Given the description of an element on the screen output the (x, y) to click on. 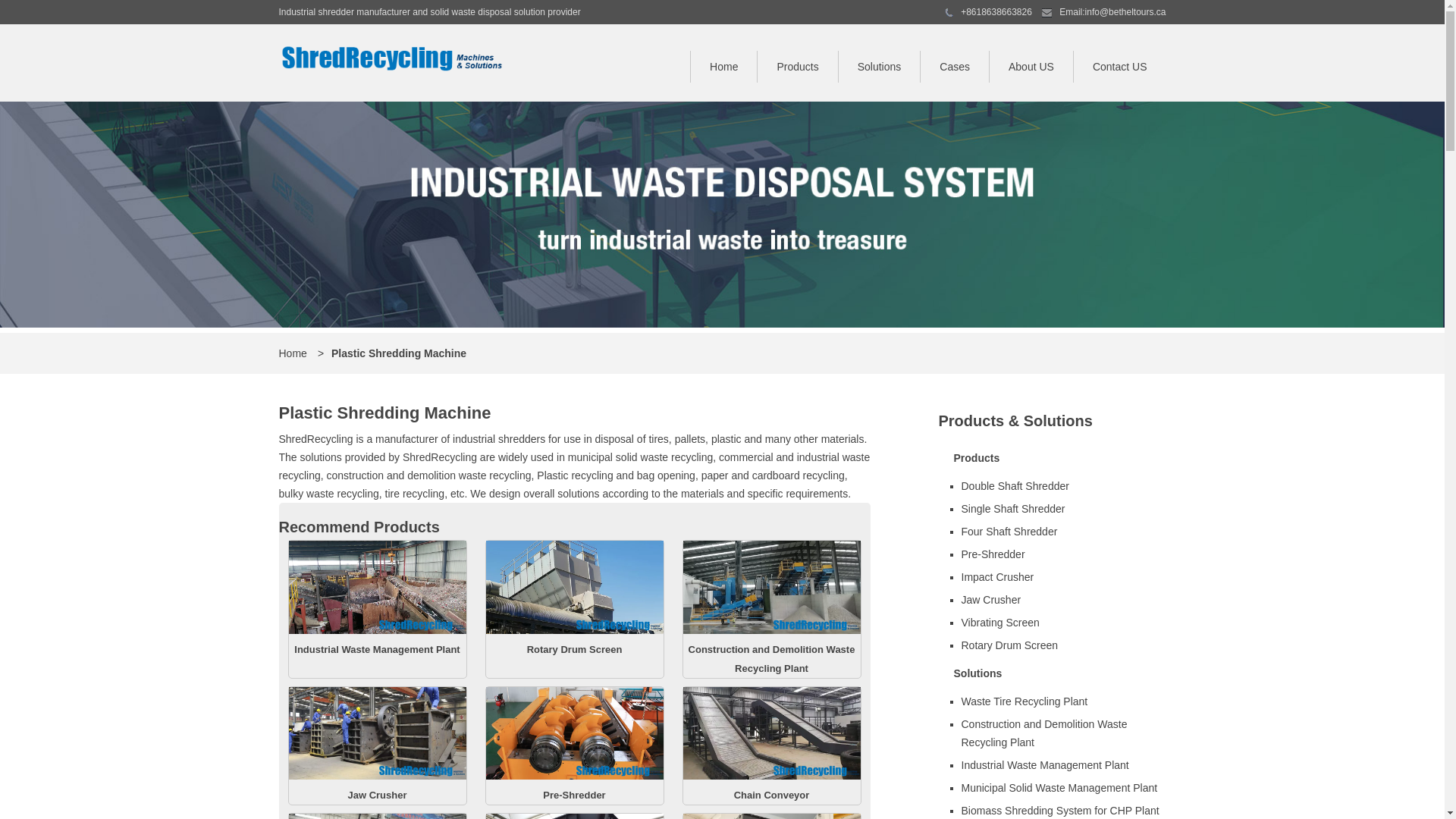
Cases Element type: text (953, 66)
Pre-Shredder, Waste Primary Shredding Machine Element type: hover (573, 775)
Single Shaft Shredder Element type: text (1061, 508)
Jaw Crusher Element type: text (1061, 599)
Four Shaft Shredder Element type: text (1061, 531)
Rotary Drum Screen Element type: hover (573, 630)
Pre-Shredder Element type: text (573, 794)
Municipal Solid Waste Management Plant Element type: text (1061, 787)
Construction and Demolition Waste Recycling Plant Element type: text (1061, 733)
Solutions Element type: text (878, 66)
Solutions Element type: text (1052, 673)
Vibrating Screen Element type: text (1061, 622)
Construction and Demolition Waste Recycling Plant Element type: hover (770, 630)
Products Element type: text (1052, 457)
Home Element type: text (723, 66)
About US Element type: text (1030, 66)
Double Shaft Shredder Element type: text (1061, 485)
Products & Solutions Element type: text (1015, 420)
Construction and Demolition Waste Recycling Plant Element type: text (771, 658)
Industrial Waste Management Plant Element type: text (376, 648)
Rotary Drum Screen Element type: text (1061, 645)
Rotary Drum Screen Element type: text (574, 648)
Jaw Crusher, Jaw Crushing Plant Element type: hover (376, 775)
Impact Crusher Element type: text (1061, 576)
info@betheltours.ca Element type: text (1125, 11)
Chain Conveyor, Metallic Plates Conveyor Element type: hover (770, 775)
Pre-Shredder Element type: text (1061, 554)
Chain Conveyor Element type: text (771, 794)
Jaw Crusher Element type: text (376, 794)
Products Element type: text (796, 66)
Waste Tire Recycling Plant Element type: text (1061, 701)
Industrial Waste Management Plant Element type: text (1061, 765)
Contact US Element type: text (1119, 66)
Home Element type: text (293, 353)
